Given the description of an element on the screen output the (x, y) to click on. 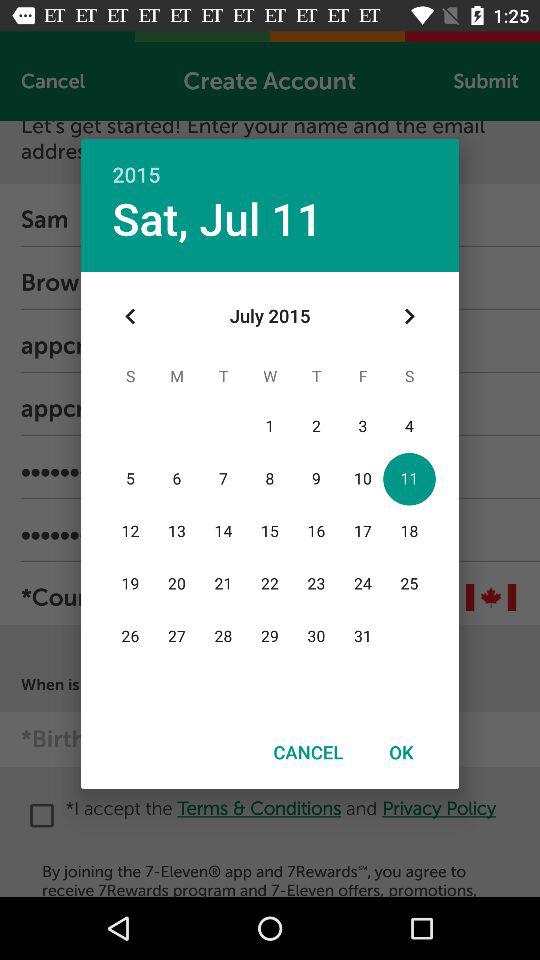
choose icon to the right of the cancel item (401, 751)
